Given the description of an element on the screen output the (x, y) to click on. 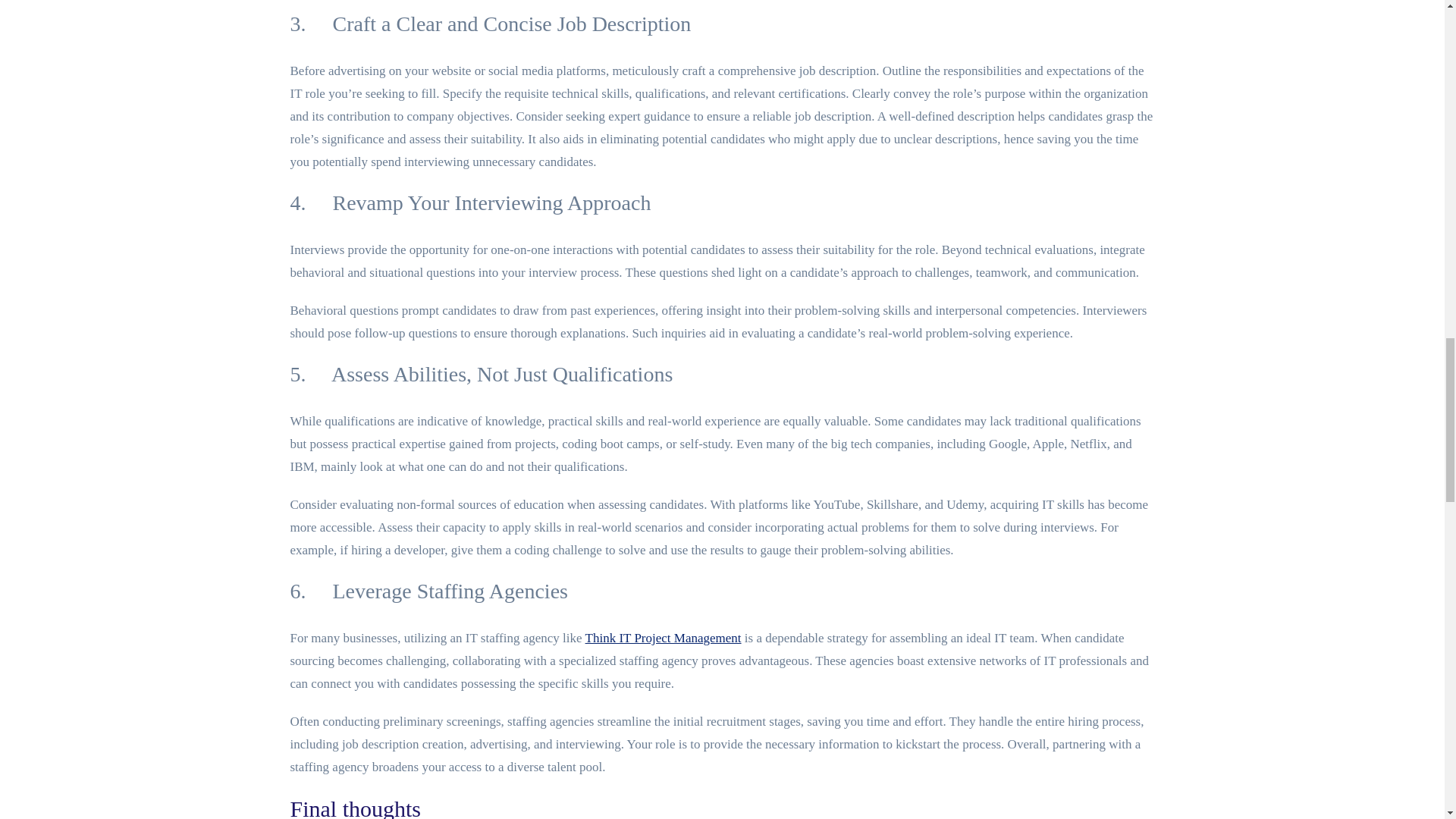
Think IT Project Management (663, 637)
